Given the description of an element on the screen output the (x, y) to click on. 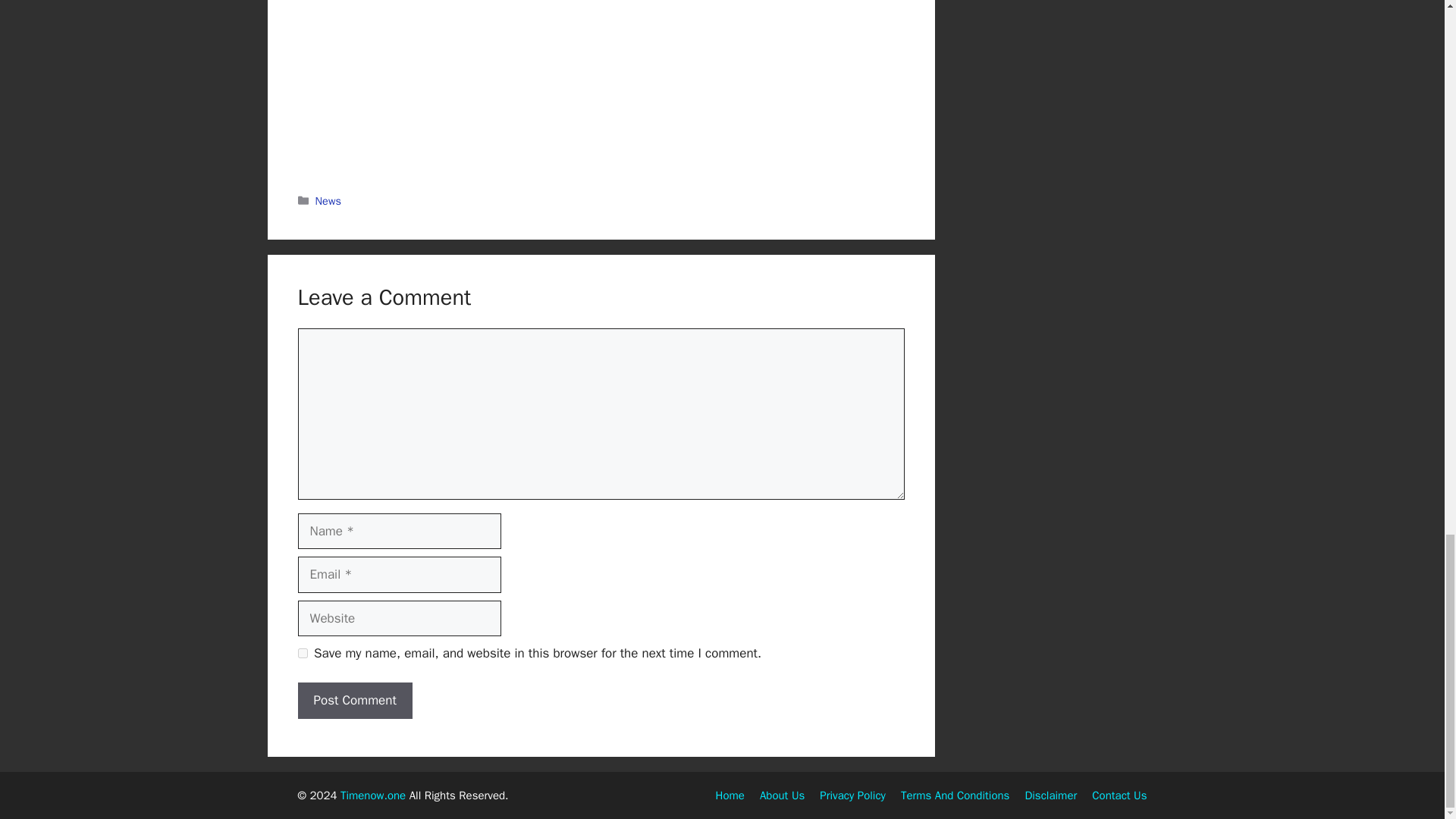
Post Comment (354, 700)
Post Comment (354, 700)
News (327, 201)
Home (730, 795)
yes (302, 653)
About Us (782, 795)
